Given the description of an element on the screen output the (x, y) to click on. 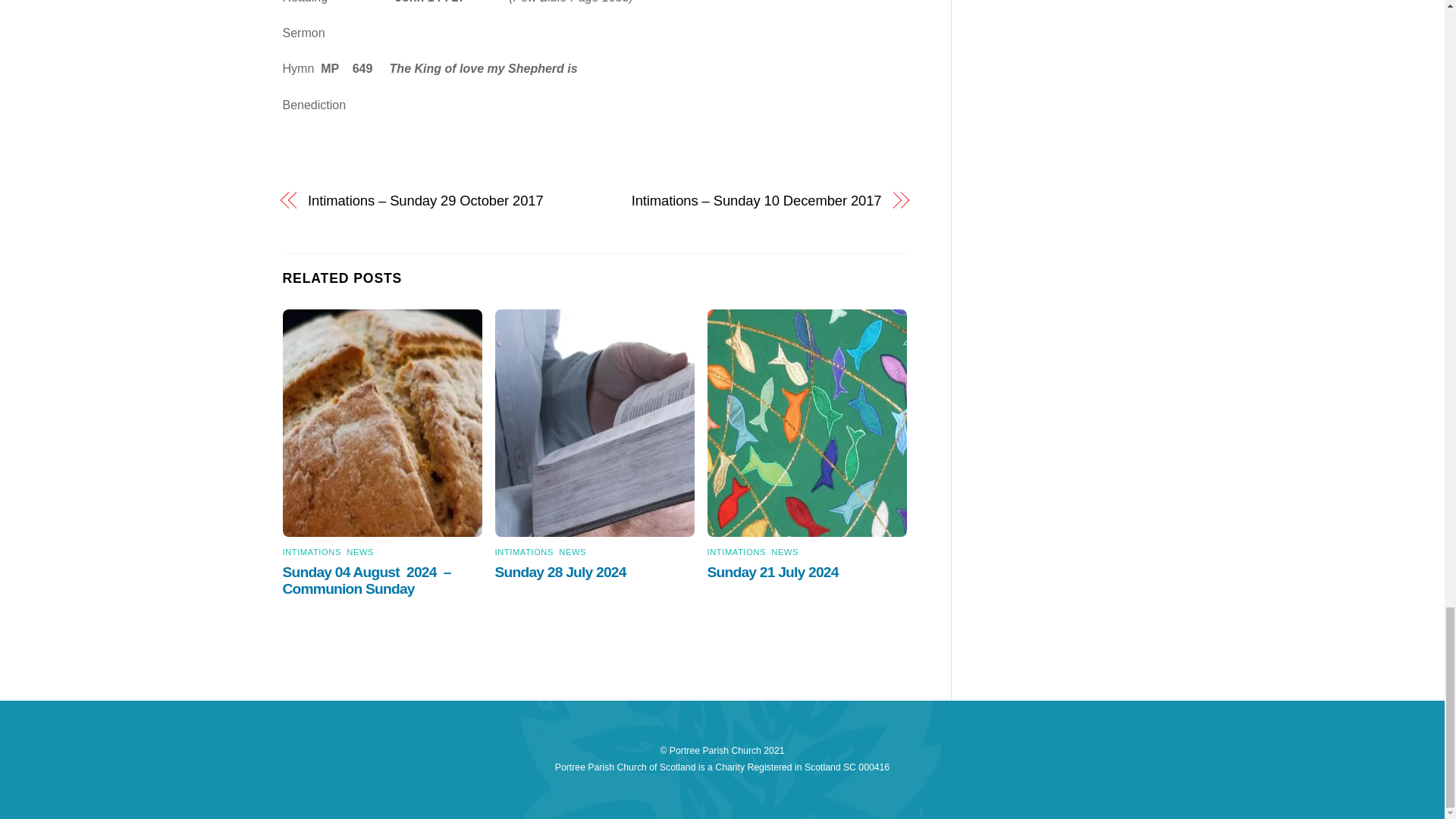
NEWS (572, 551)
INTIMATIONS (736, 551)
NEWS (784, 551)
NEWS (360, 551)
INTIMATIONS (311, 551)
INTIMATIONS (524, 551)
Sunday 28 July 2024  (562, 571)
Sunday 21 July 2024  (775, 571)
